Given the description of an element on the screen output the (x, y) to click on. 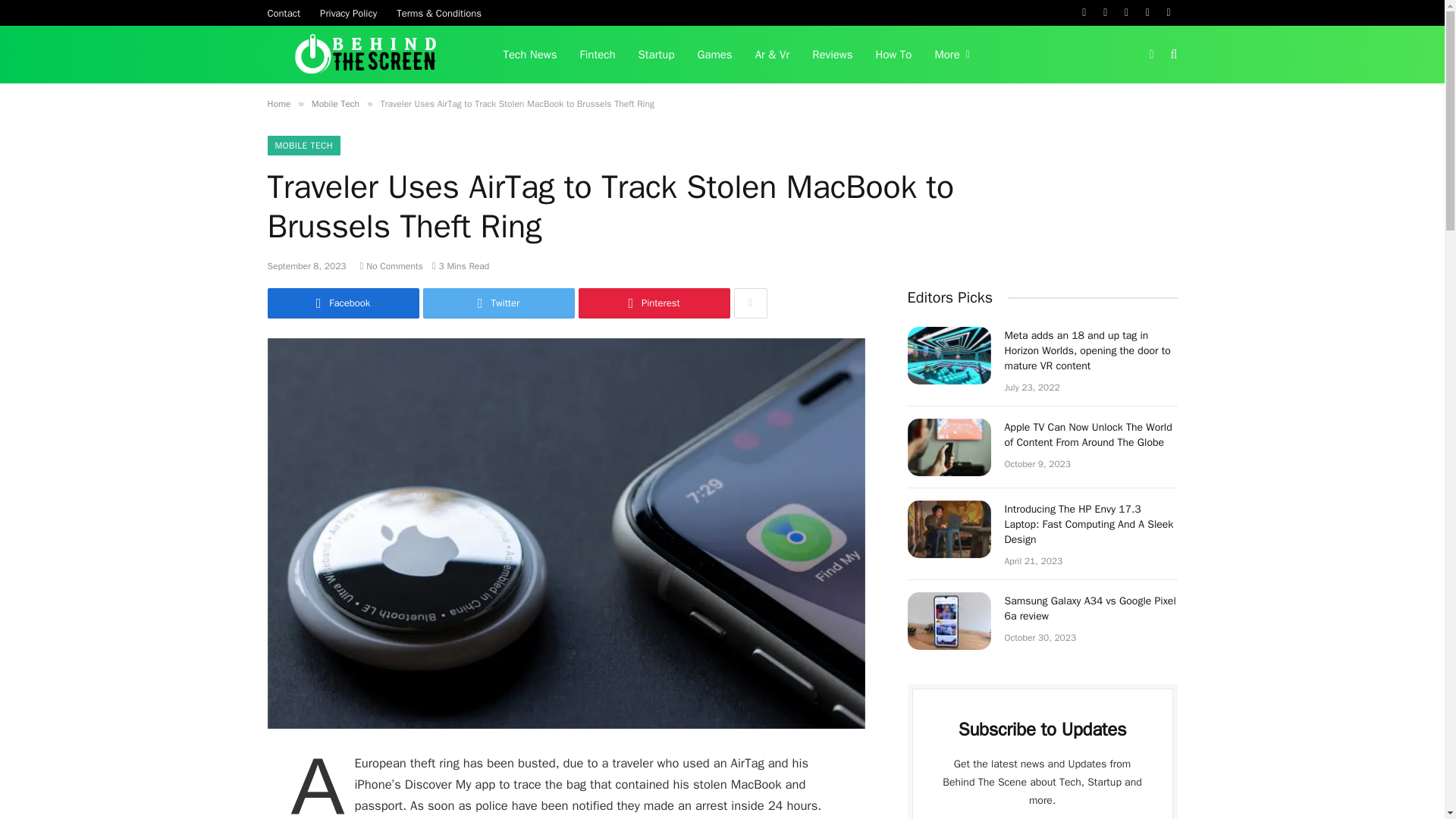
Reviews (831, 54)
Share on Twitter (499, 303)
Contact (284, 12)
Share on Facebook (342, 303)
Tech News (529, 54)
Fintech (598, 54)
Behind The Screen (365, 54)
Games (713, 54)
Startup (656, 54)
How To (893, 54)
